Given the description of an element on the screen output the (x, y) to click on. 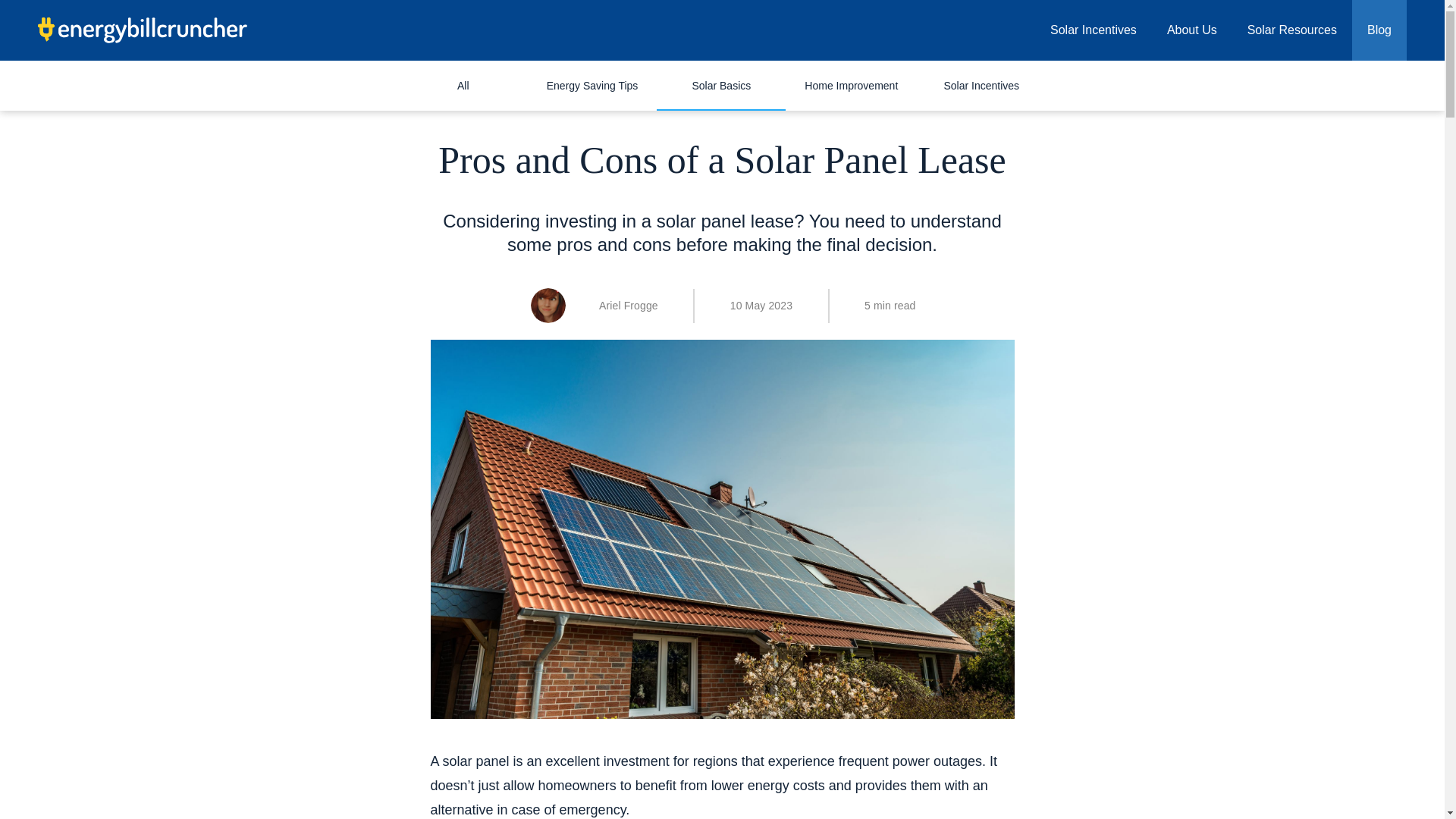
About Us (1191, 29)
All (462, 85)
Energy Saving Tips (592, 85)
Solar Basics (721, 85)
Home Improvement (851, 85)
Blog (1379, 29)
Solar Incentives (1093, 29)
Solar Resources (1291, 29)
Solar Incentives (981, 85)
